Given the description of an element on the screen output the (x, y) to click on. 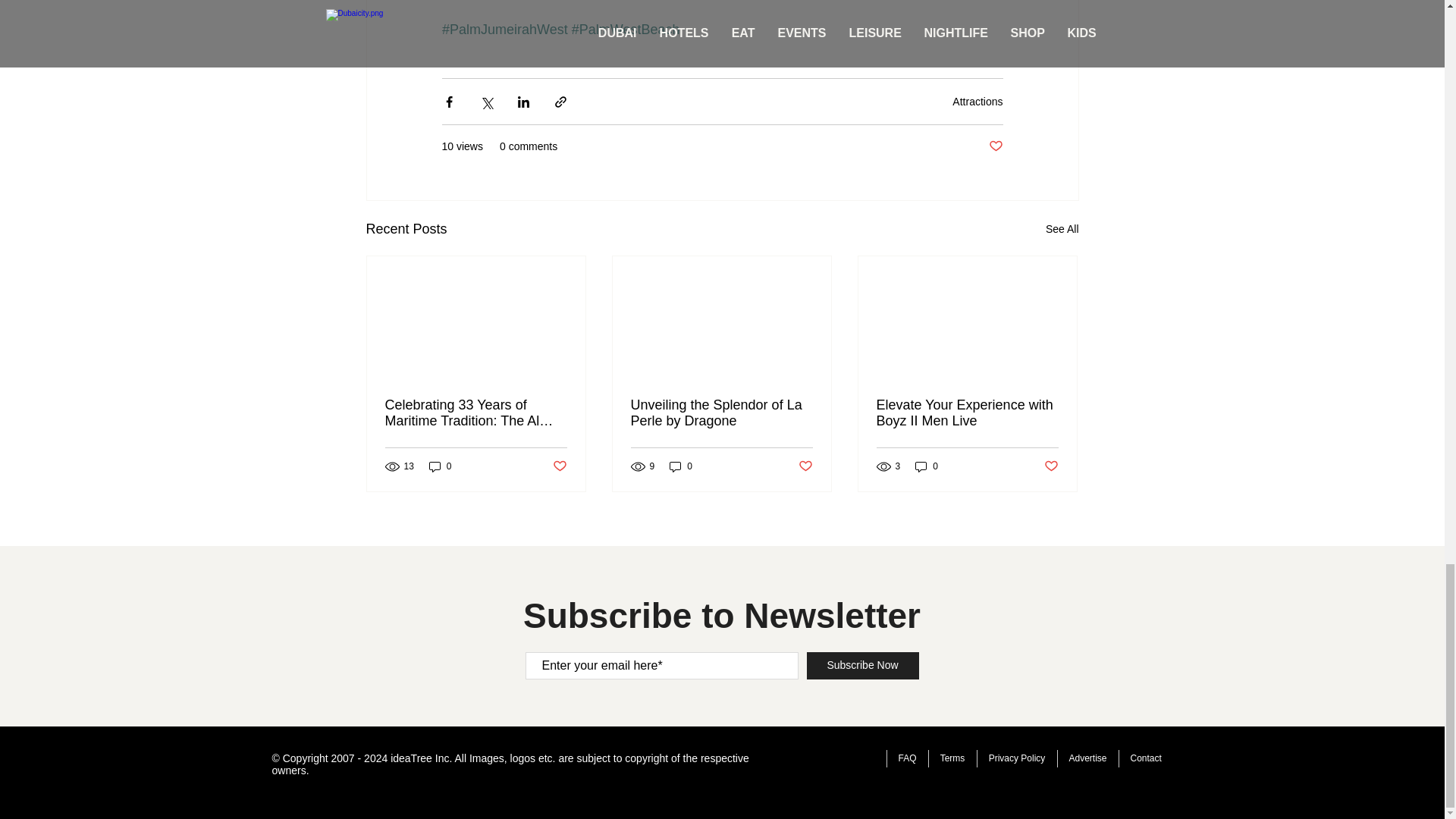
Advertise (1087, 758)
Post not marked as liked (558, 465)
FAQ (906, 758)
Attractions (977, 101)
Unveiling the Splendor of La Perle by Dragone (721, 413)
0 (926, 466)
Post not marked as liked (995, 146)
0 (440, 466)
0 (681, 466)
Post not marked as liked (1050, 465)
